Given the description of an element on the screen output the (x, y) to click on. 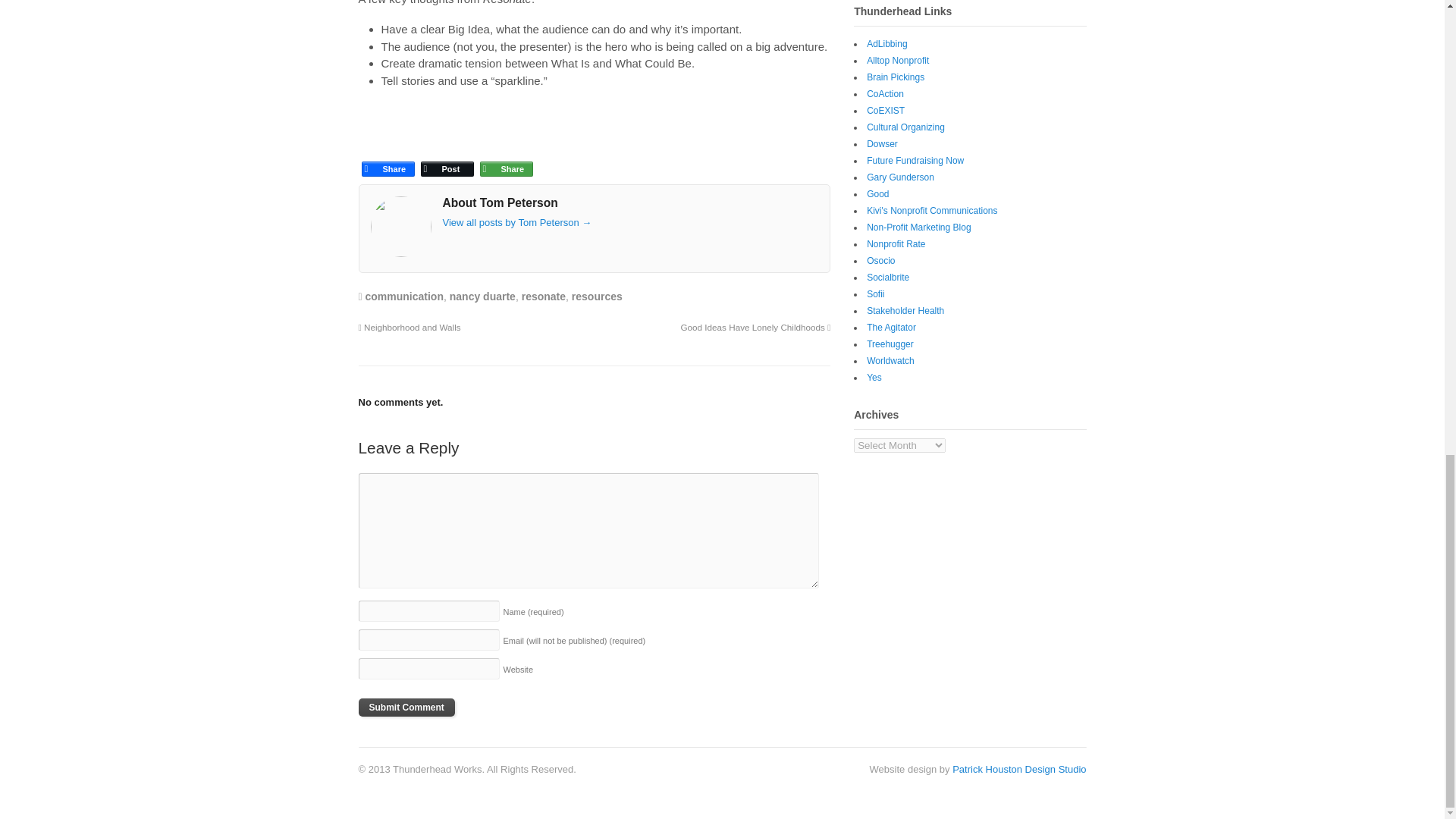
More Options (505, 155)
Submit Comment (406, 707)
Facebook (387, 155)
